Given the description of an element on the screen output the (x, y) to click on. 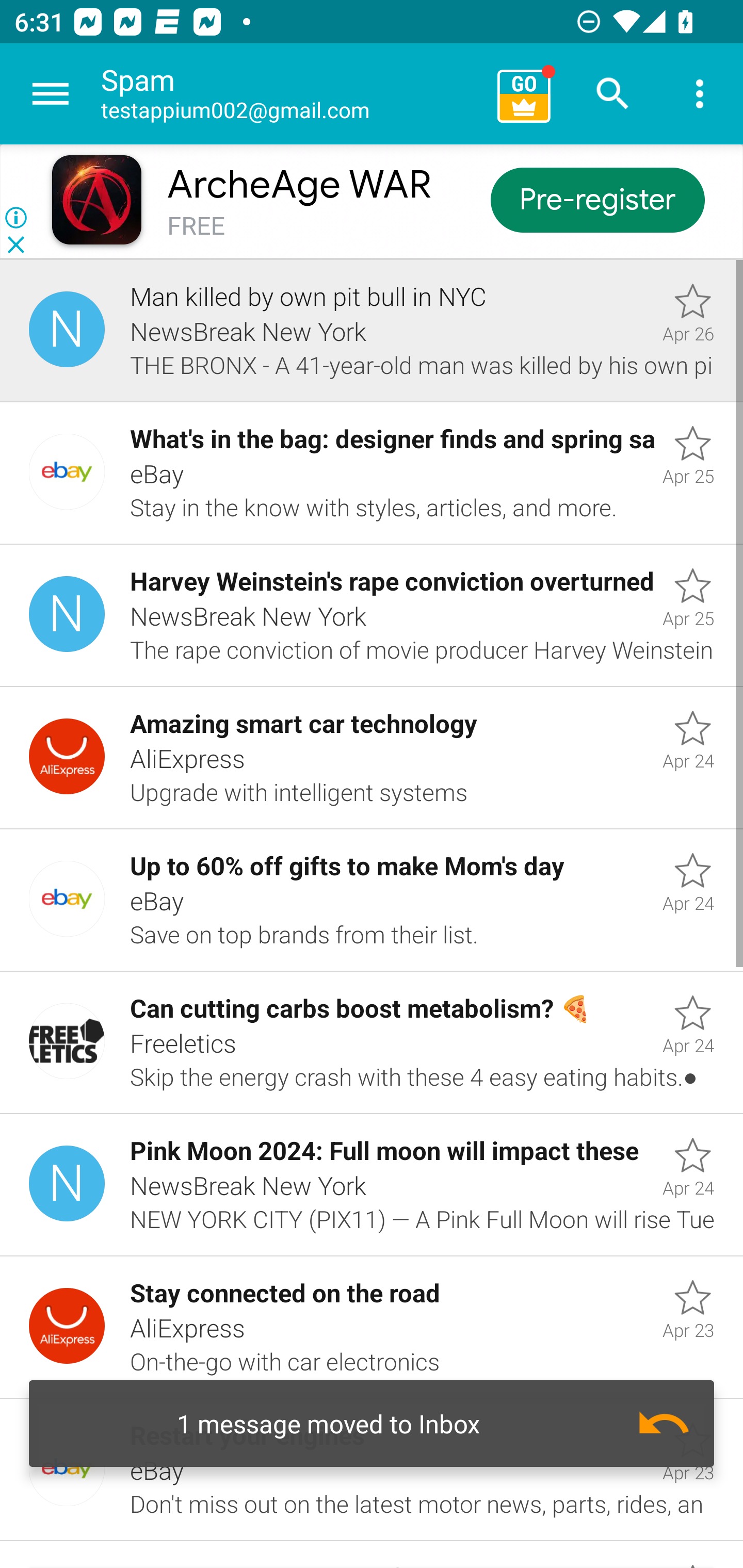
Navigate up (50, 93)
Spam testappium002@gmail.com (291, 93)
Search (612, 93)
More options (699, 93)
ArcheAge WAR (298, 184)
Pre-register (597, 199)
FREE (195, 225)
Undo 1 message moved to Inbox (371, 1423)
